Given the description of an element on the screen output the (x, y) to click on. 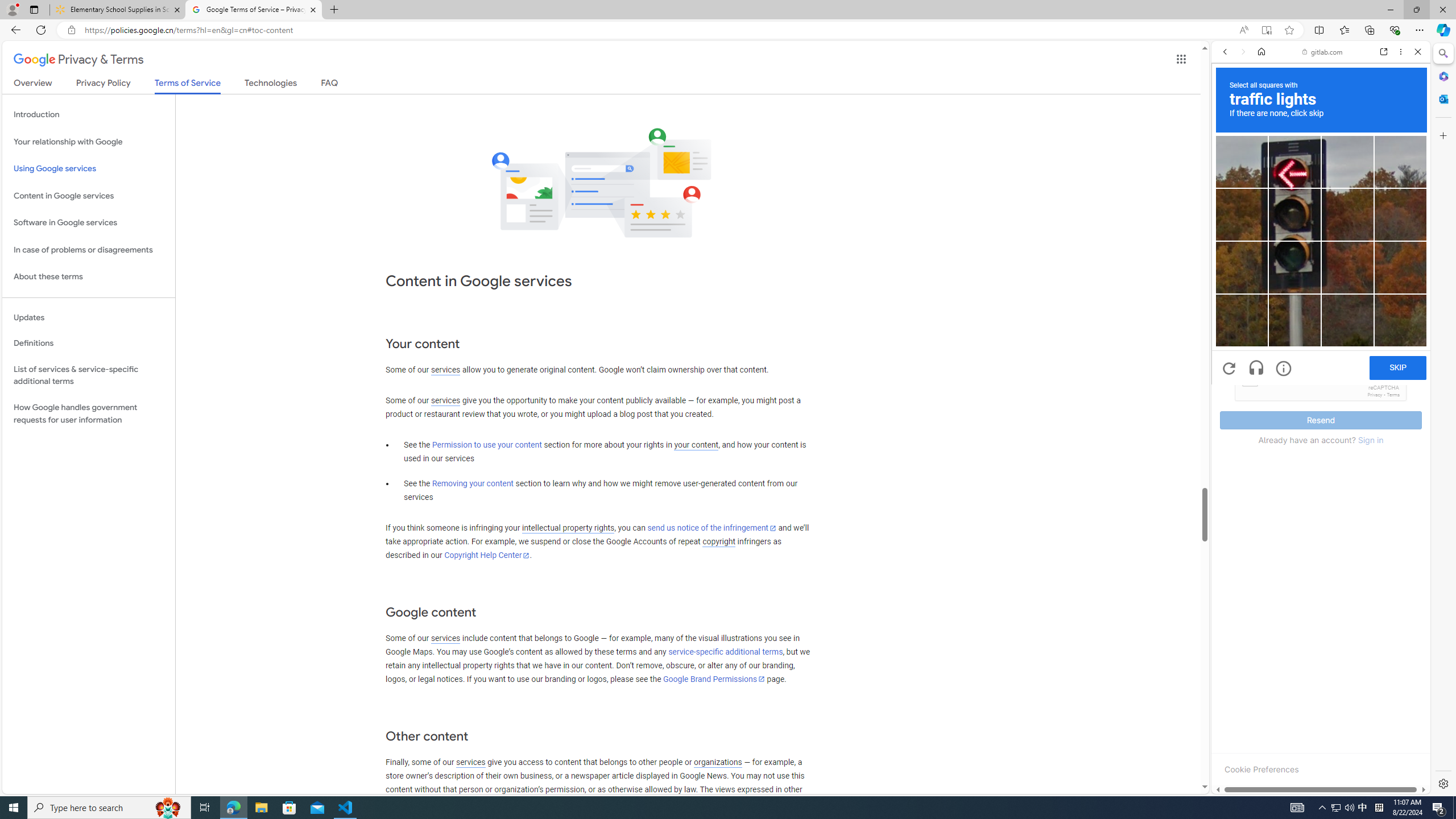
ALL   (1228, 130)
Search Filter, ALL (1228, 129)
Image challenge (1294, 267)
SKIP (1398, 368)
View details (1379, 555)
View details (1379, 554)
gitlab.com (1323, 51)
